Given the description of an element on the screen output the (x, y) to click on. 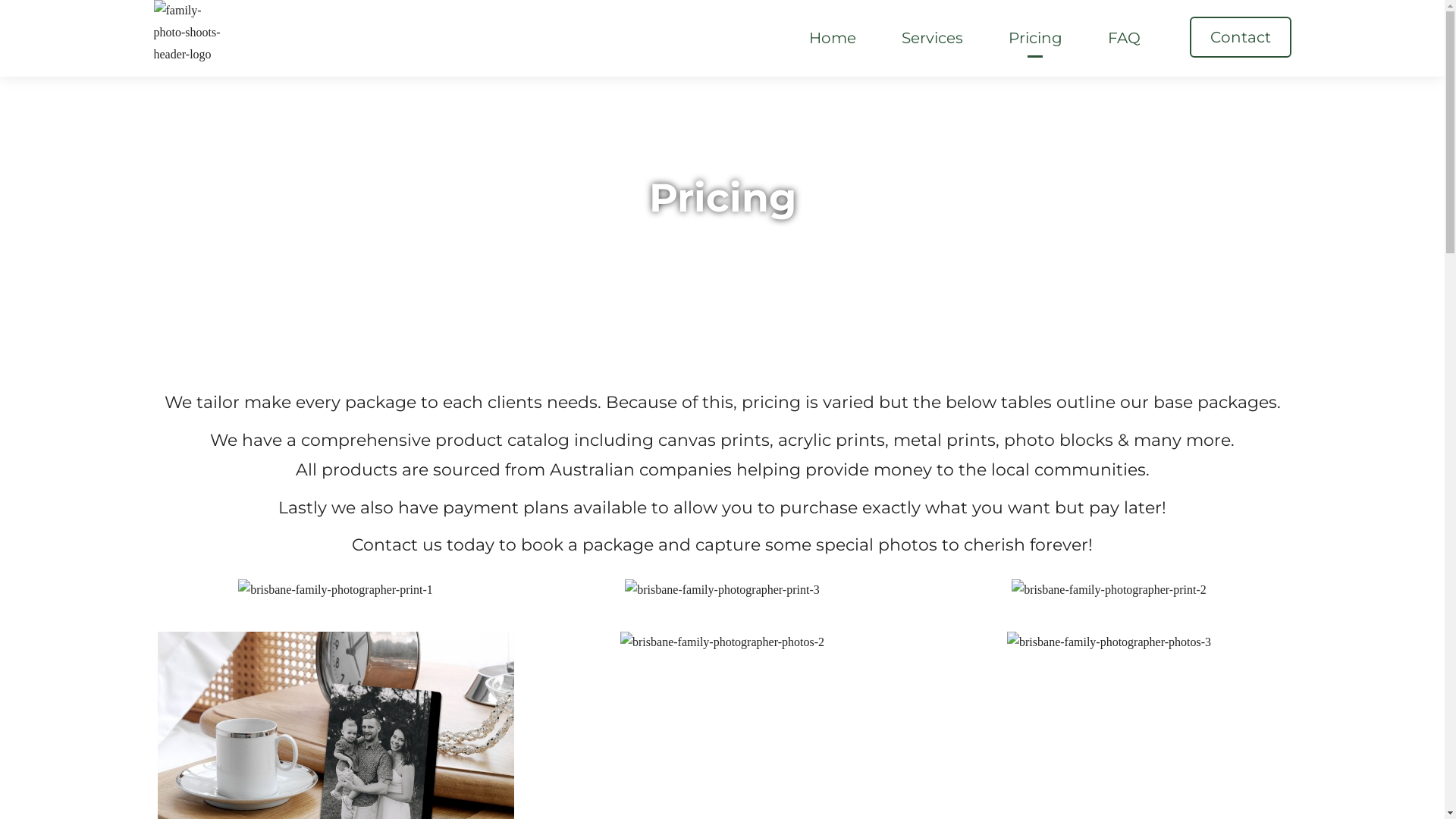
brisbane-family-photographer-photos-2 Element type: hover (722, 642)
Contact Element type: text (1239, 36)
Services Element type: text (932, 37)
FAQ Element type: text (1123, 37)
Home Element type: text (832, 37)
Pricing Element type: text (1034, 37)
brisbane-family-photographer-photos-3 Element type: hover (1109, 642)
brisbane-family-photographer-print-3 Element type: hover (721, 590)
brisbane-family-photographer-print-1 Element type: hover (335, 590)
brisbane-family-photographer-print-2 Element type: hover (1108, 590)
